Given the description of an element on the screen output the (x, y) to click on. 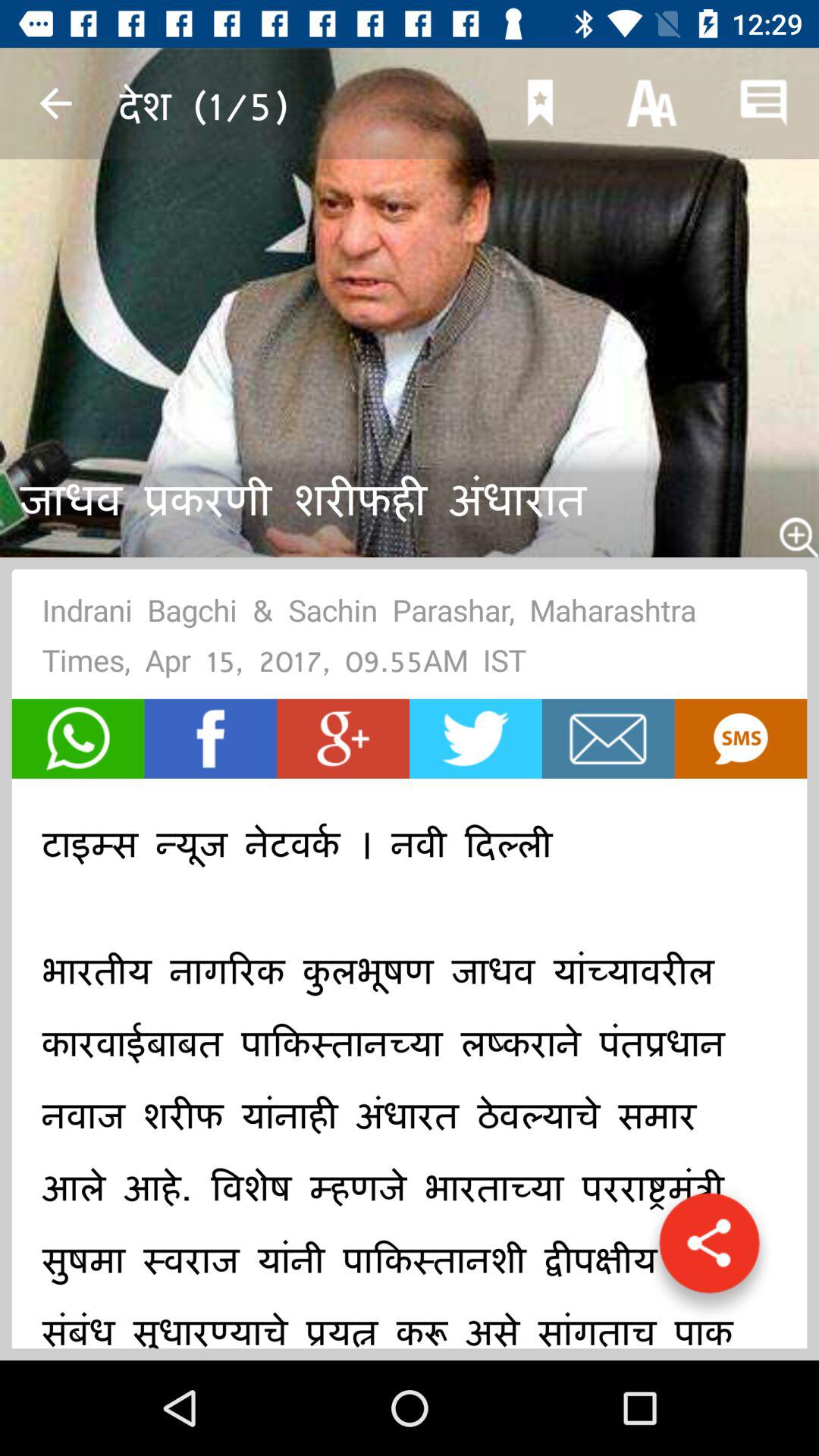
get direct link button (709, 1250)
